Given the description of an element on the screen output the (x, y) to click on. 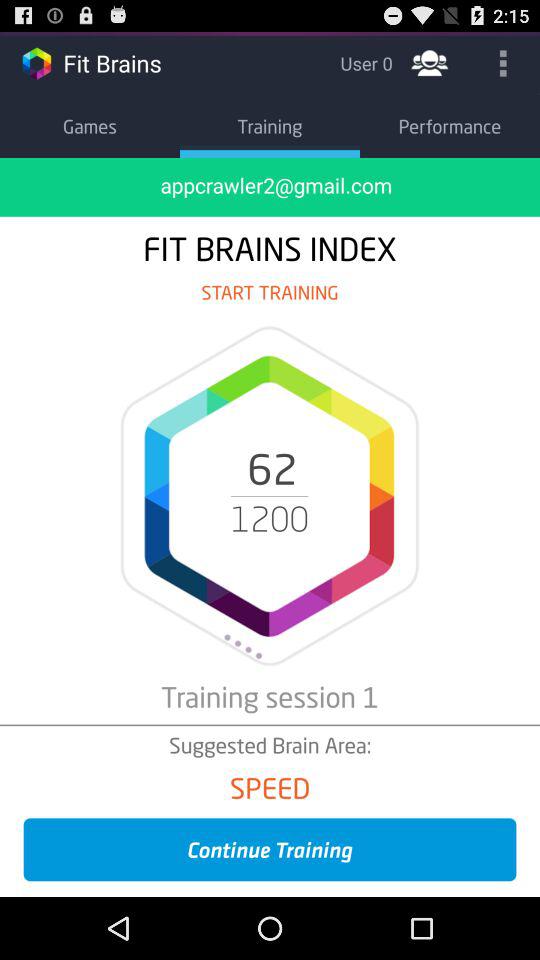
turn on icon to the right of user 0 item (429, 62)
